Given the description of an element on the screen output the (x, y) to click on. 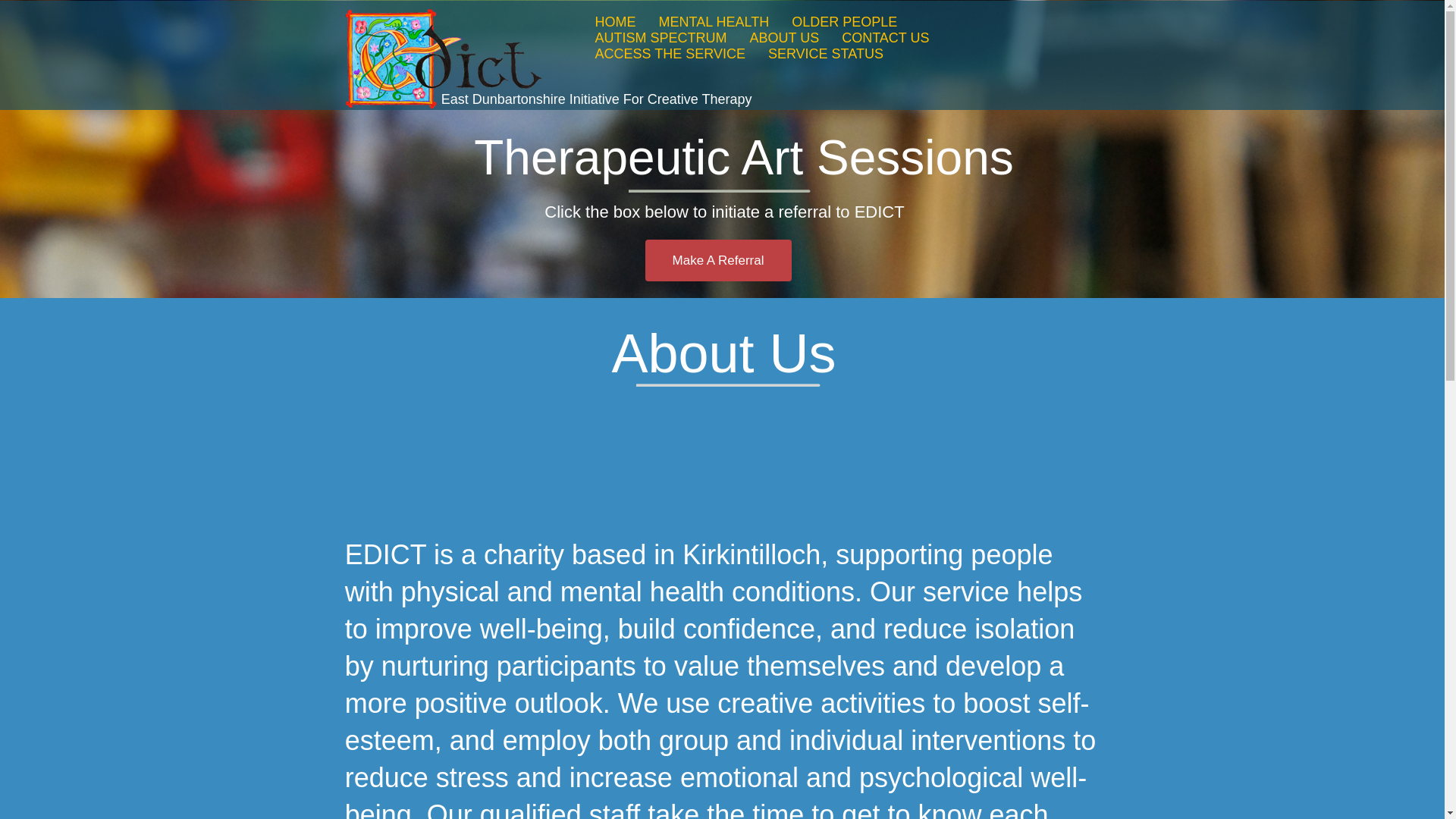
AUTISM SPECTRUM (660, 37)
ABOUT US (784, 37)
ACCESS THE SERVICE (669, 53)
CONTACT US (884, 37)
SERVICE STATUS (825, 53)
OLDER PEOPLE (844, 22)
MENTAL HEALTH (713, 22)
HOME (614, 22)
